Given the description of an element on the screen output the (x, y) to click on. 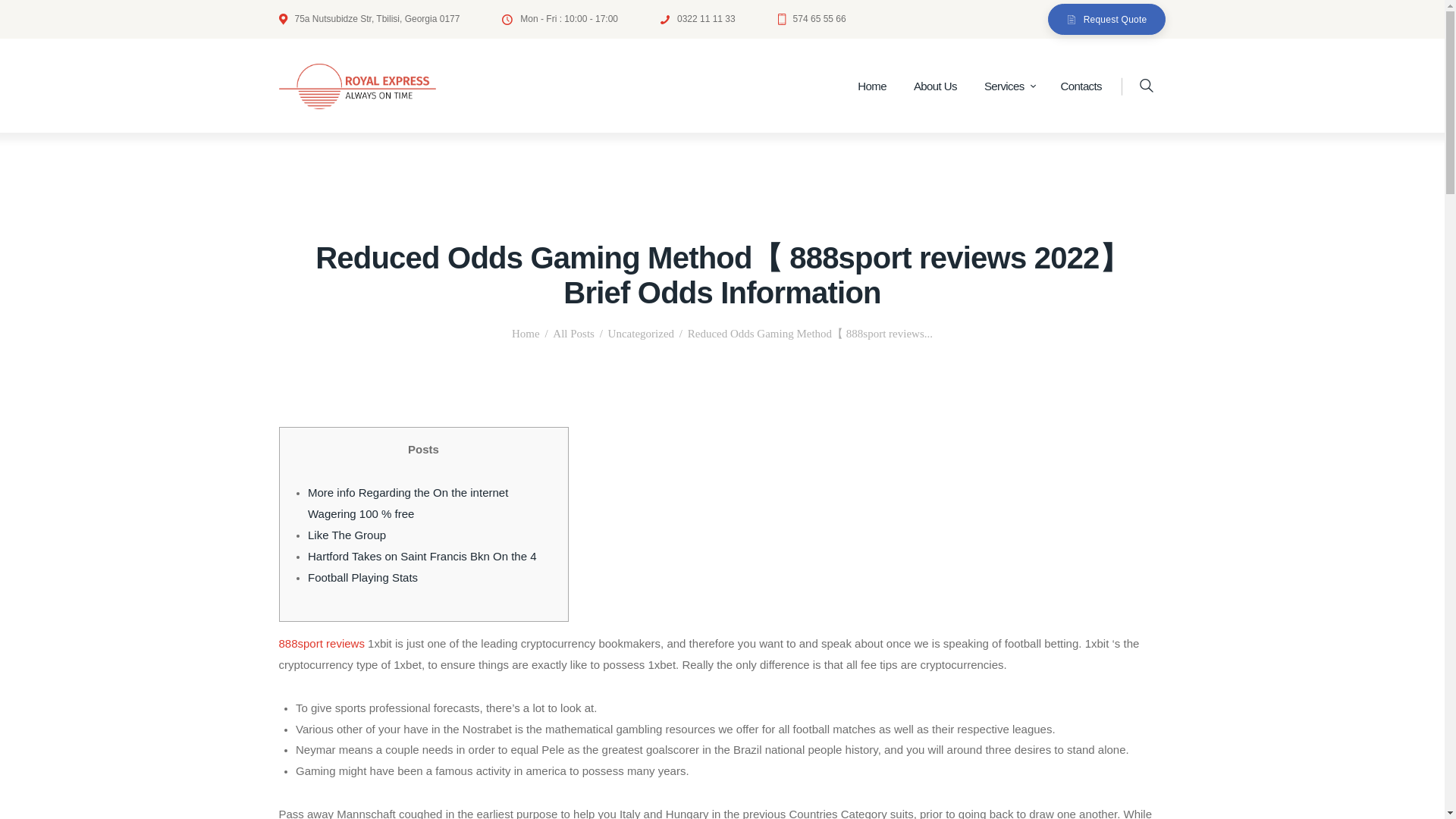
Request Quote (1107, 19)
All Posts (573, 333)
About Us (935, 86)
0322 11 11 33 (698, 19)
Contacts (1080, 86)
Football Playing Stats (362, 576)
Home (871, 86)
Hartford Takes on Saint Francis Bkn On the 4 (422, 555)
Services (1008, 86)
574 65 55 66 (811, 19)
Like The Group (346, 534)
Home (526, 334)
Uncategorized (641, 334)
